Given the description of an element on the screen output the (x, y) to click on. 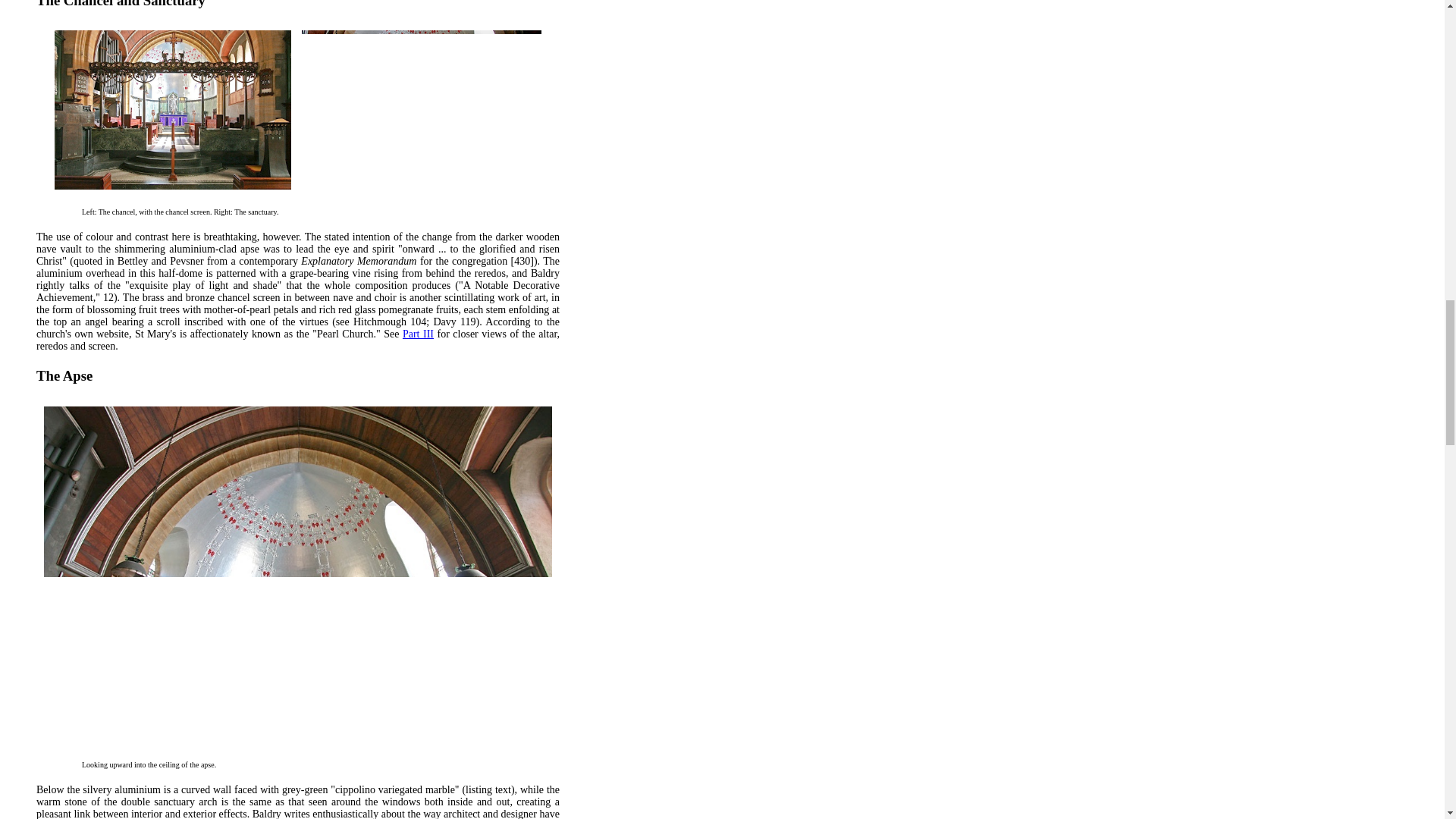
Part III (418, 333)
